Given the description of an element on the screen output the (x, y) to click on. 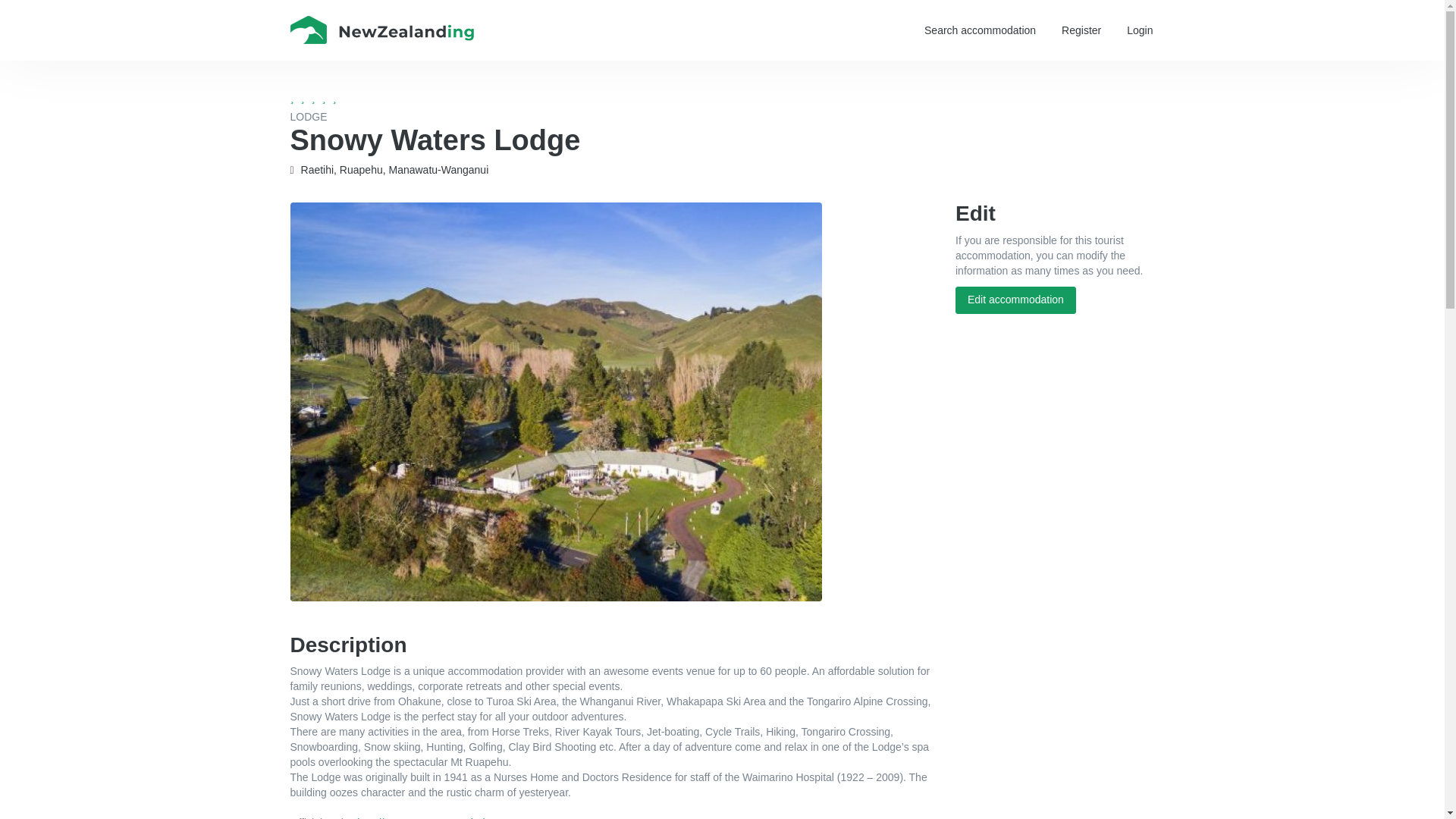
Register (1080, 30)
Search accommodation (979, 30)
Login (1139, 30)
Edit accommodation (1015, 299)
